Given the description of an element on the screen output the (x, y) to click on. 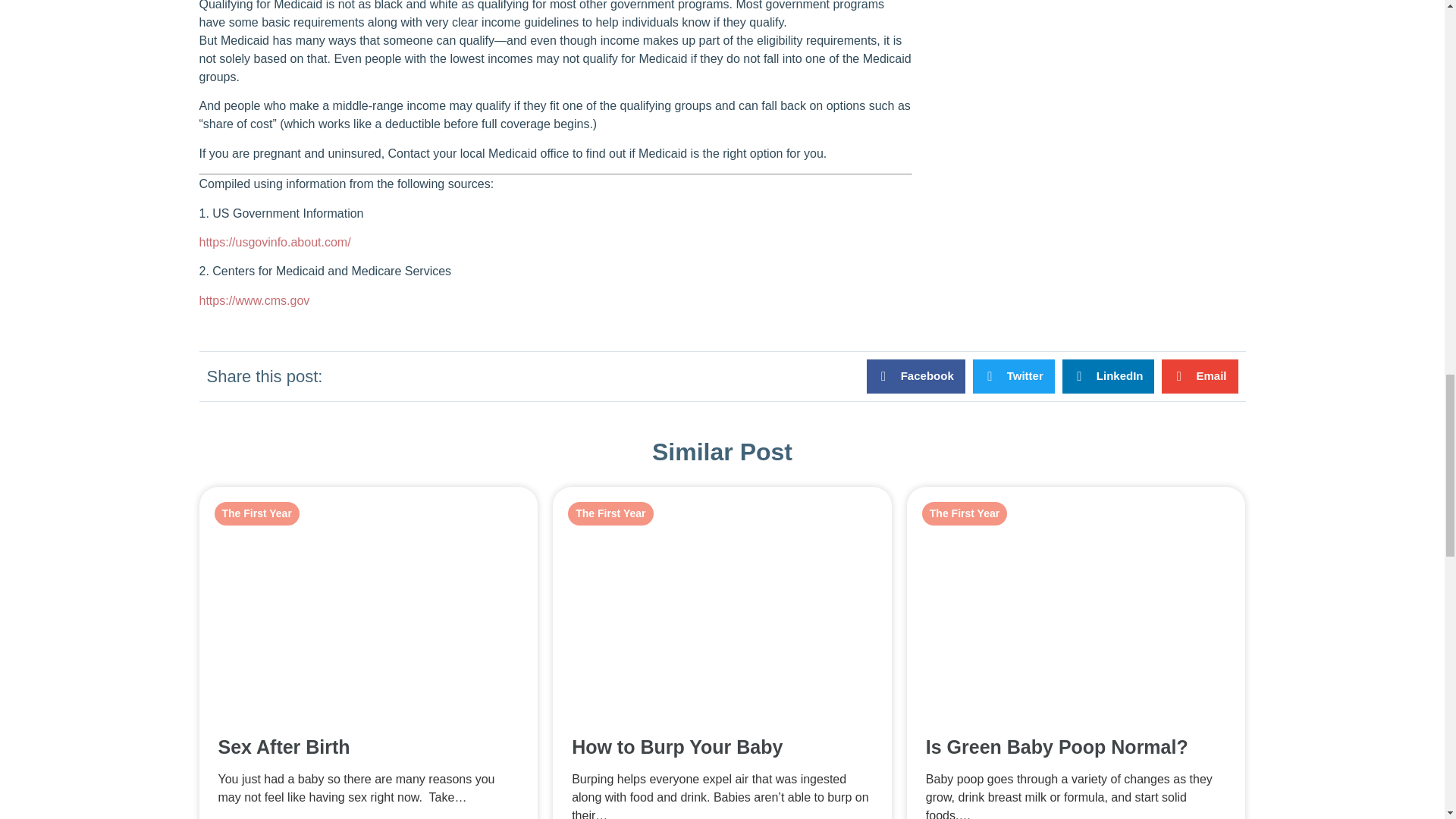
Centers for Medicaid and Medicare Services (253, 300)
US Government Information (274, 241)
